Given the description of an element on the screen output the (x, y) to click on. 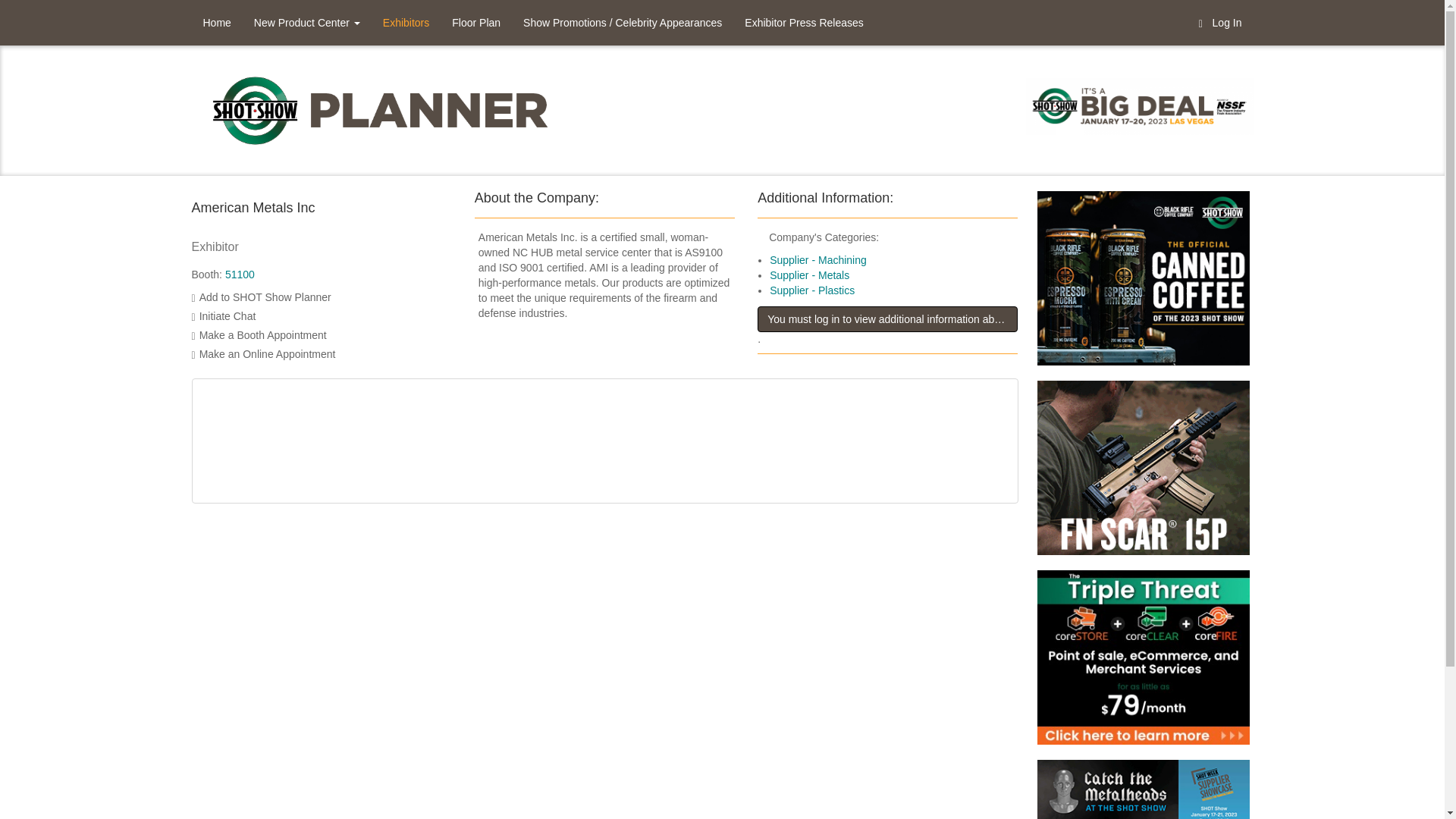
2023 SHOT Show (380, 109)
Supplier - Plastics (812, 290)
  Log In (1220, 22)
Floor Plan (476, 22)
Banner (1135, 789)
Exhibitor Press Releases (804, 22)
Supplier - Machining (818, 259)
Exhibitors (406, 22)
New Product Center (307, 22)
Home (215, 22)
Banner (1135, 285)
Banner (1135, 665)
Banner (1135, 475)
Supplier - Metals (809, 275)
51100 (239, 274)
